Given the description of an element on the screen output the (x, y) to click on. 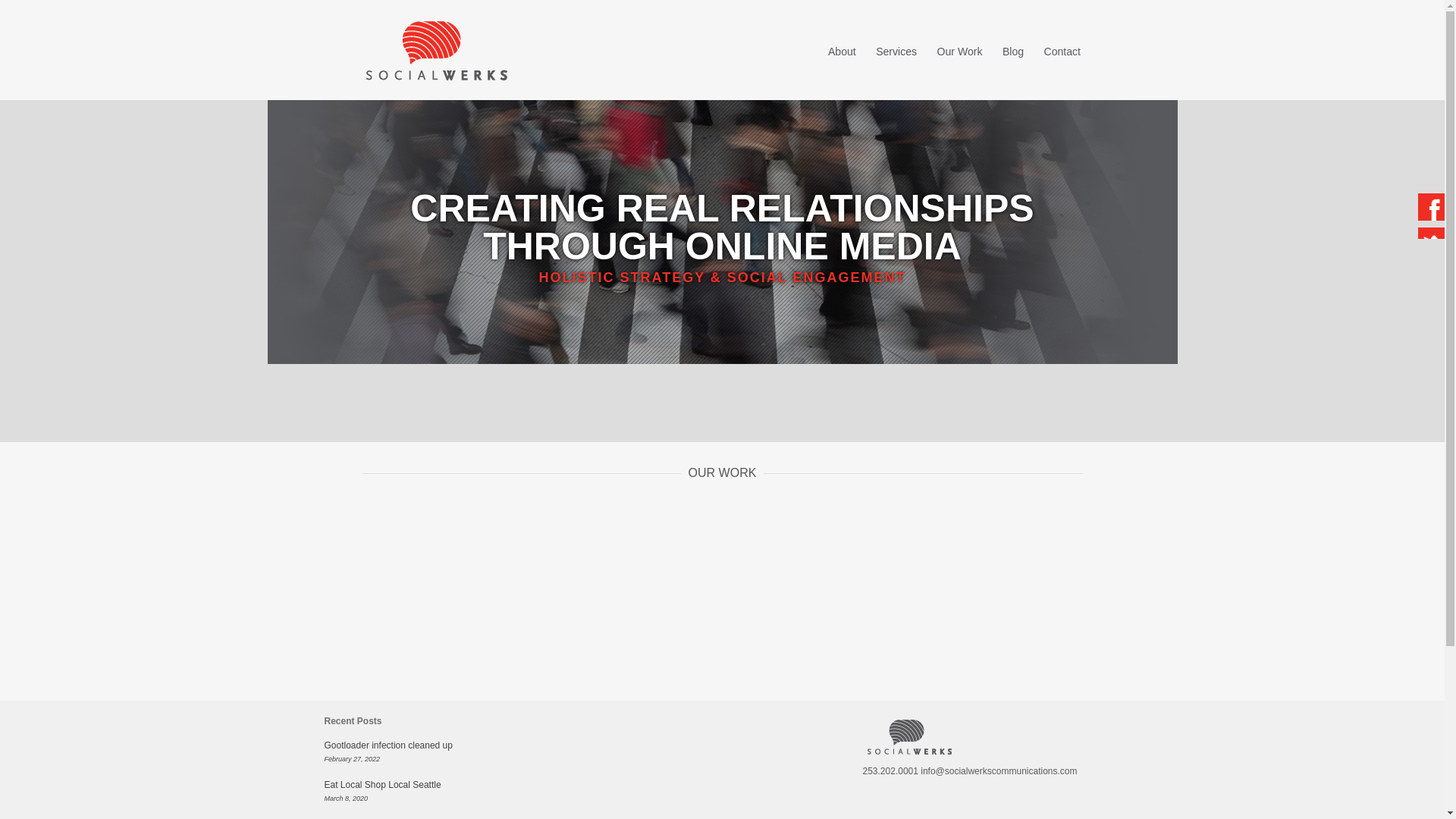
Our Work (959, 51)
Services (896, 51)
Gootloader infection cleaned up (388, 745)
Eat Local Shop Local Seattle (382, 784)
Contact (1061, 51)
Eat Local Shop Local Seattle (382, 784)
About (842, 51)
Gootloader infection cleaned up (388, 745)
Blog (1013, 51)
